Given the description of an element on the screen output the (x, y) to click on. 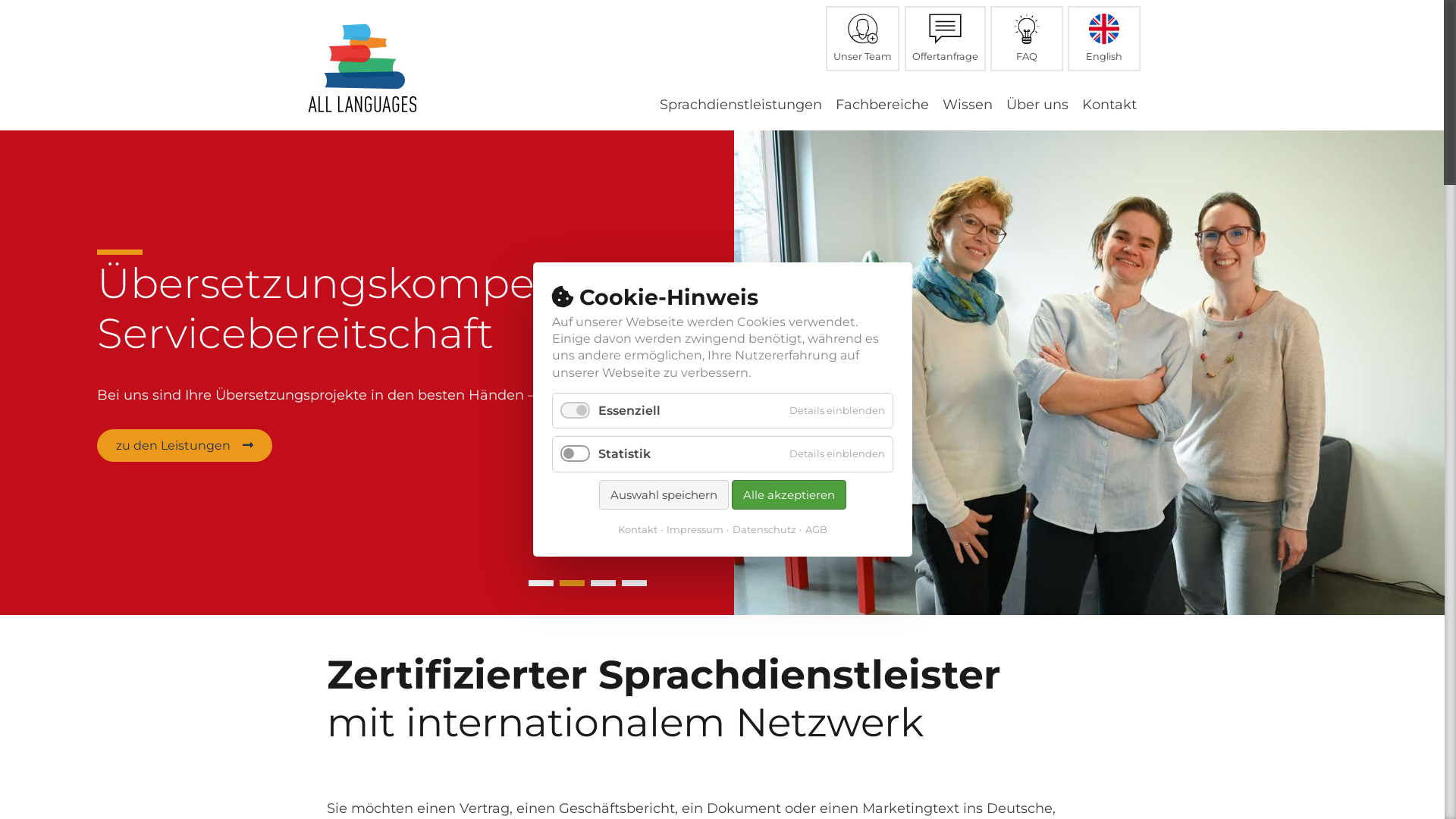
Datenschutz Element type: text (761, 529)
Kontakt Element type: text (636, 529)
AGB Element type: text (813, 529)
English Element type: text (1104, 38)
Zur Startseite Element type: hover (361, 67)
Auswahl speichern Element type: text (663, 494)
Unser Team Element type: text (862, 38)
Kontakt Element type: text (1108, 106)
Details einblenden Element type: text (836, 453)
FAQ Element type: text (1026, 38)
zu den Leistungen Element type: text (184, 445)
Wissen Element type: text (966, 106)
Offertanfrage Element type: text (945, 38)
Sprachdienstleistungen Element type: text (740, 106)
Impressum Element type: text (690, 529)
Details einblenden Element type: text (836, 410)
Fachbereiche Element type: text (881, 106)
Alle akzeptieren Element type: text (788, 494)
